Given the description of an element on the screen output the (x, y) to click on. 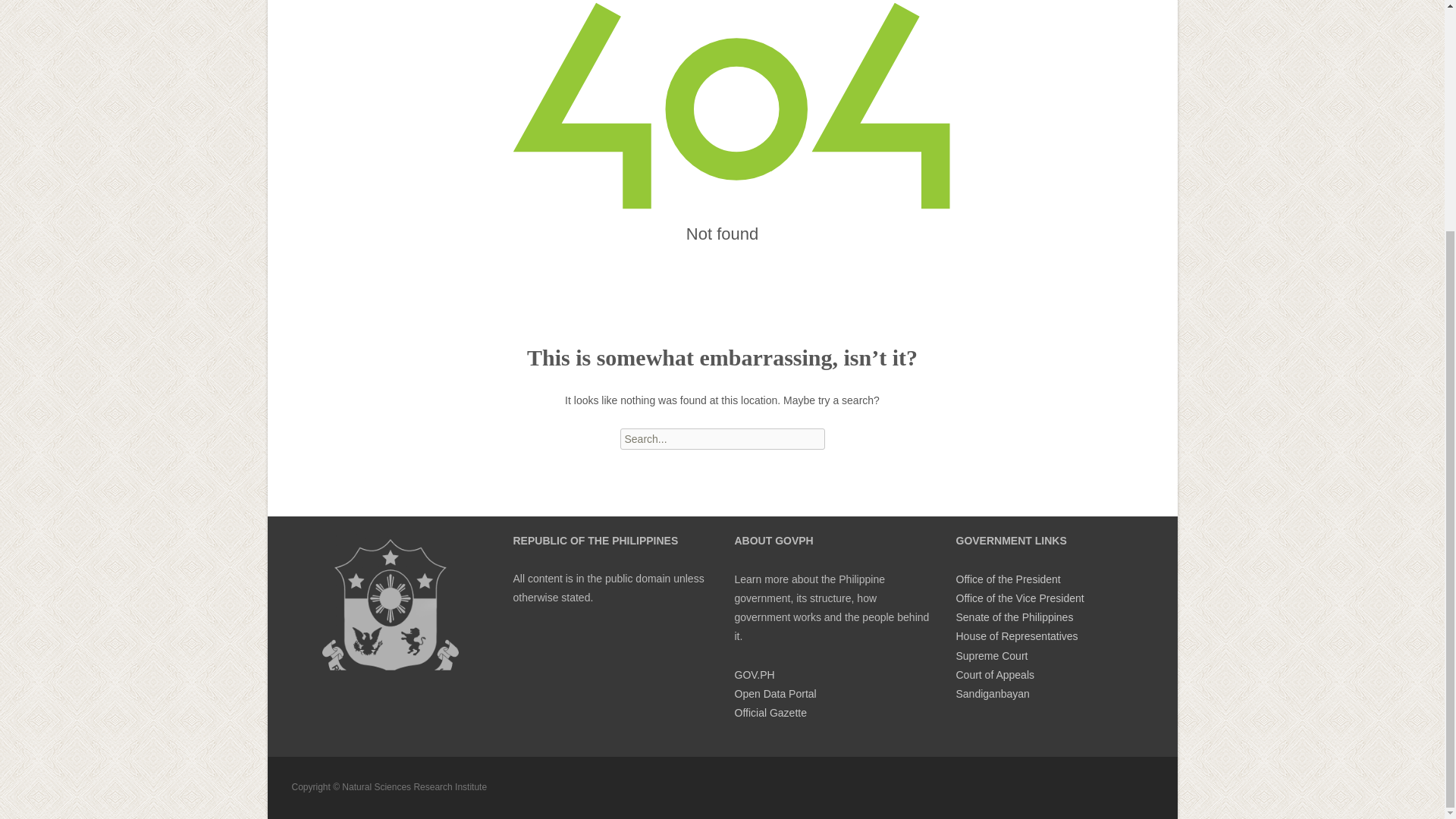
House of Representatives (1016, 635)
Sandiganbayan (992, 693)
Supreme Court (991, 655)
GOV.PH (753, 674)
Court of Appeals (994, 674)
Search for: (722, 438)
Senate of the Philippines (1014, 616)
Official Gazette (769, 712)
Open Data Portal (774, 693)
Office of the President (1007, 579)
